Given the description of an element on the screen output the (x, y) to click on. 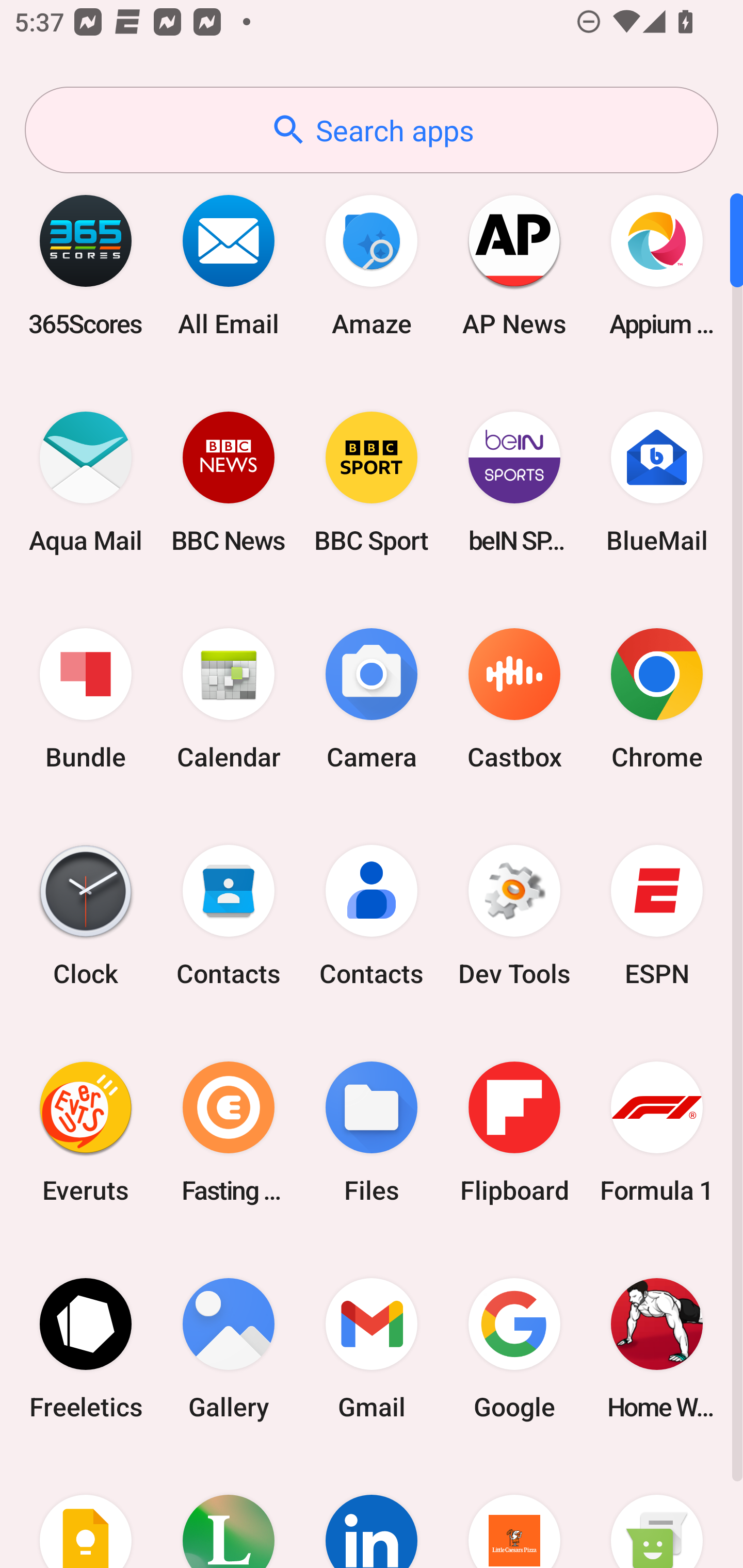
  Search apps (371, 130)
365Scores (85, 264)
All Email (228, 264)
Amaze (371, 264)
AP News (514, 264)
Appium Settings (656, 264)
Aqua Mail (85, 482)
BBC News (228, 482)
BBC Sport (371, 482)
beIN SPORTS (514, 482)
BlueMail (656, 482)
Bundle (85, 699)
Calendar (228, 699)
Camera (371, 699)
Castbox (514, 699)
Chrome (656, 699)
Clock (85, 915)
Contacts (228, 915)
Contacts (371, 915)
Dev Tools (514, 915)
ESPN (656, 915)
Everuts (85, 1131)
Fasting Coach (228, 1131)
Files (371, 1131)
Flipboard (514, 1131)
Formula 1 (656, 1131)
Freeletics (85, 1348)
Gallery (228, 1348)
Gmail (371, 1348)
Google (514, 1348)
Home Workout (656, 1348)
Keep Notes (85, 1512)
Lifesum (228, 1512)
LinkedIn (371, 1512)
Little Caesars Pizza (514, 1512)
Messaging (656, 1512)
